Given the description of an element on the screen output the (x, y) to click on. 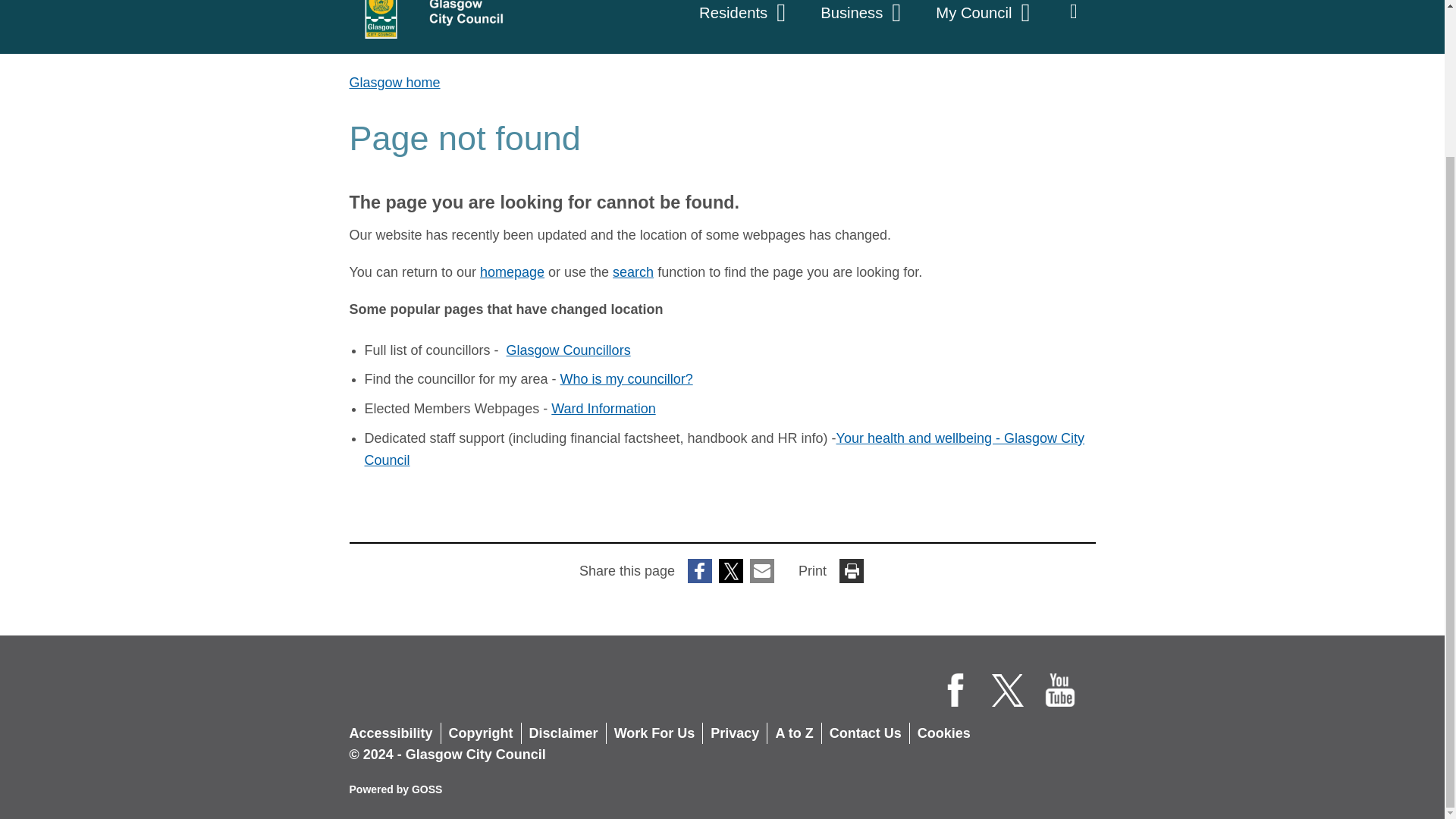
opens in a new browser window (626, 378)
YouTube (1060, 689)
opens in a new browser window (568, 350)
Residents (428, 27)
Facebook (744, 20)
Twitter (955, 689)
